Given the description of an element on the screen output the (x, y) to click on. 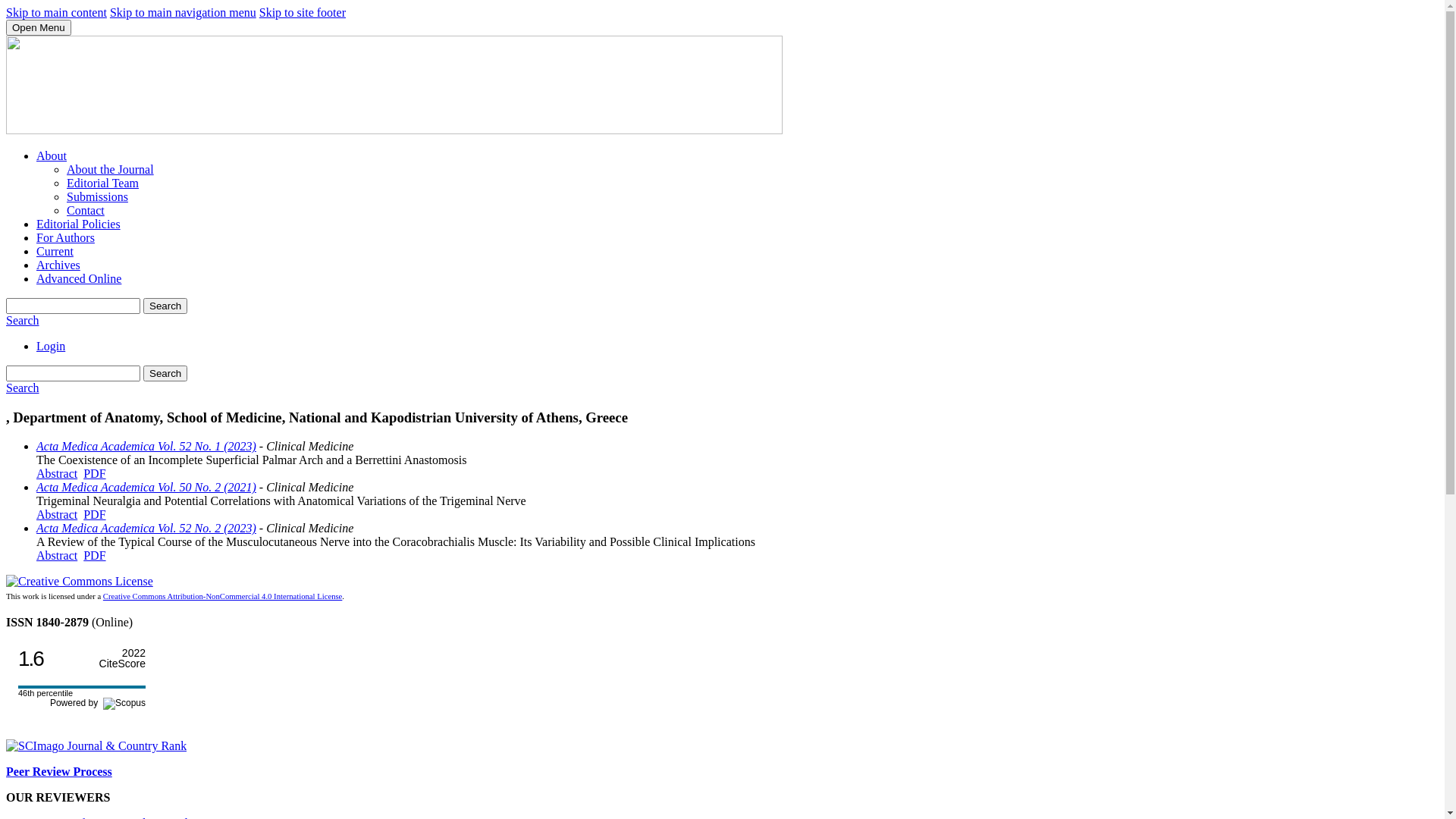
PDF Element type: text (94, 555)
For Authors Element type: text (65, 237)
Archives Element type: text (58, 264)
Skip to main content Element type: text (56, 12)
Current Element type: text (54, 250)
About the Journal Element type: text (109, 169)
Advanced Online Element type: text (78, 278)
Abstract Element type: text (56, 514)
PDF Element type: text (94, 514)
Search Element type: text (22, 387)
Skip to site footer Element type: text (302, 12)
SCImago Journal & Country Rank Element type: hover (96, 745)
Abstract Element type: text (56, 473)
About Element type: text (51, 155)
Abstract Element type: text (56, 555)
Open Menu Element type: text (38, 27)
Submissions Element type: text (97, 196)
Search Element type: text (22, 319)
Acta Medica Academica Vol. 52 No. 2 (2023) Element type: text (146, 527)
Login Element type: text (50, 345)
Search Element type: text (165, 305)
Peer Review Process Element type: text (59, 771)
Search Element type: text (165, 373)
Contact Element type: text (85, 209)
Skip to main navigation menu Element type: text (182, 12)
Acta Medica Academica Vol. 50 No. 2 (2021) Element type: text (146, 486)
Editorial Policies Element type: text (78, 223)
Acta Medica Academica Vol. 52 No. 1 (2023) Element type: text (146, 445)
PDF Element type: text (94, 473)
Editorial Team Element type: text (102, 182)
